Given the description of an element on the screen output the (x, y) to click on. 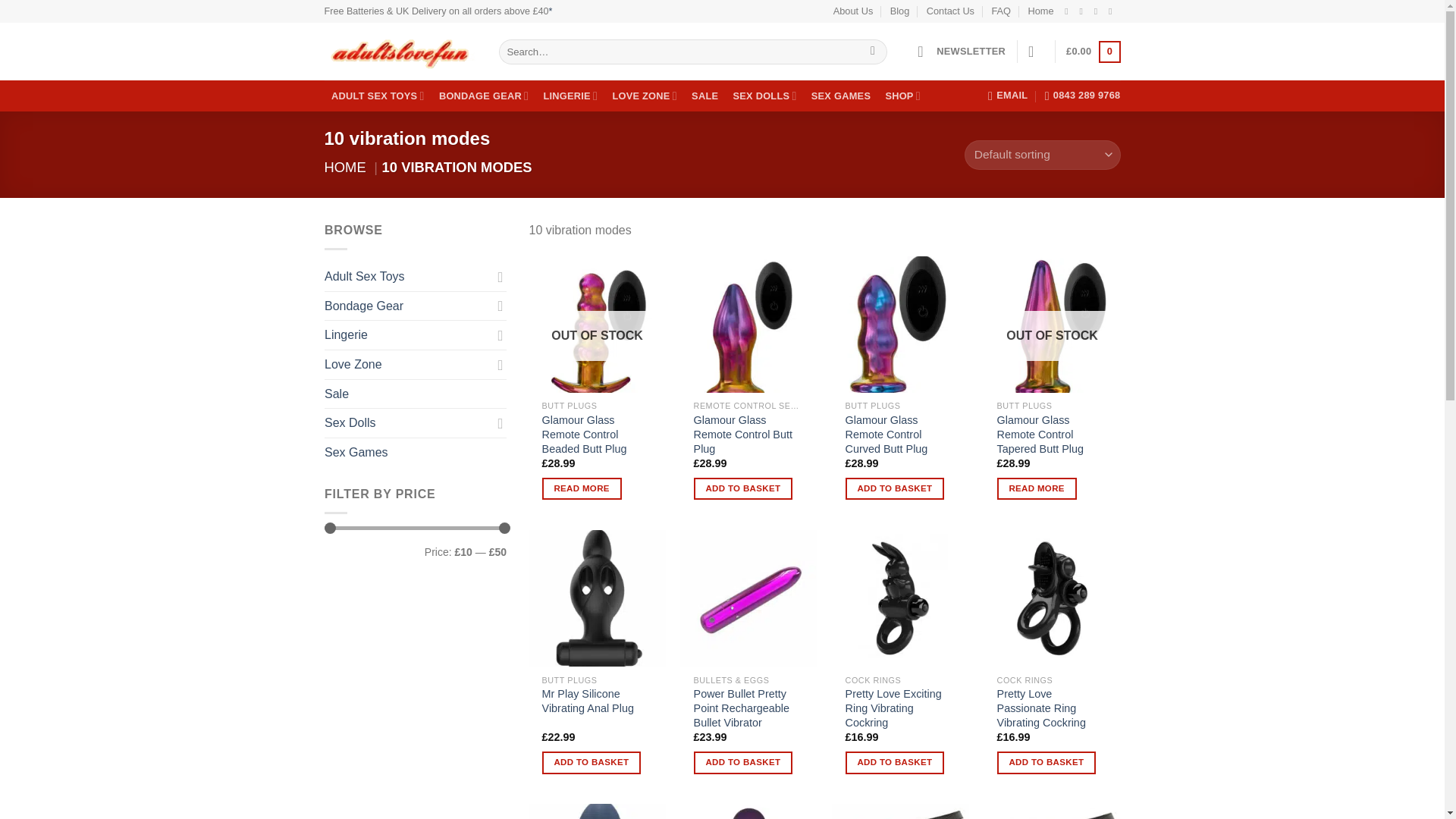
About Us (852, 11)
0843 289 9768 (1083, 95)
Sign up for Newsletter (961, 51)
BONDAGE GEAR (482, 96)
ADULT SEX TOYS (378, 96)
Contact Us (950, 11)
Home (1039, 11)
Basket (1092, 52)
NEWSLETTER (961, 51)
Search (872, 52)
